Given the description of an element on the screen output the (x, y) to click on. 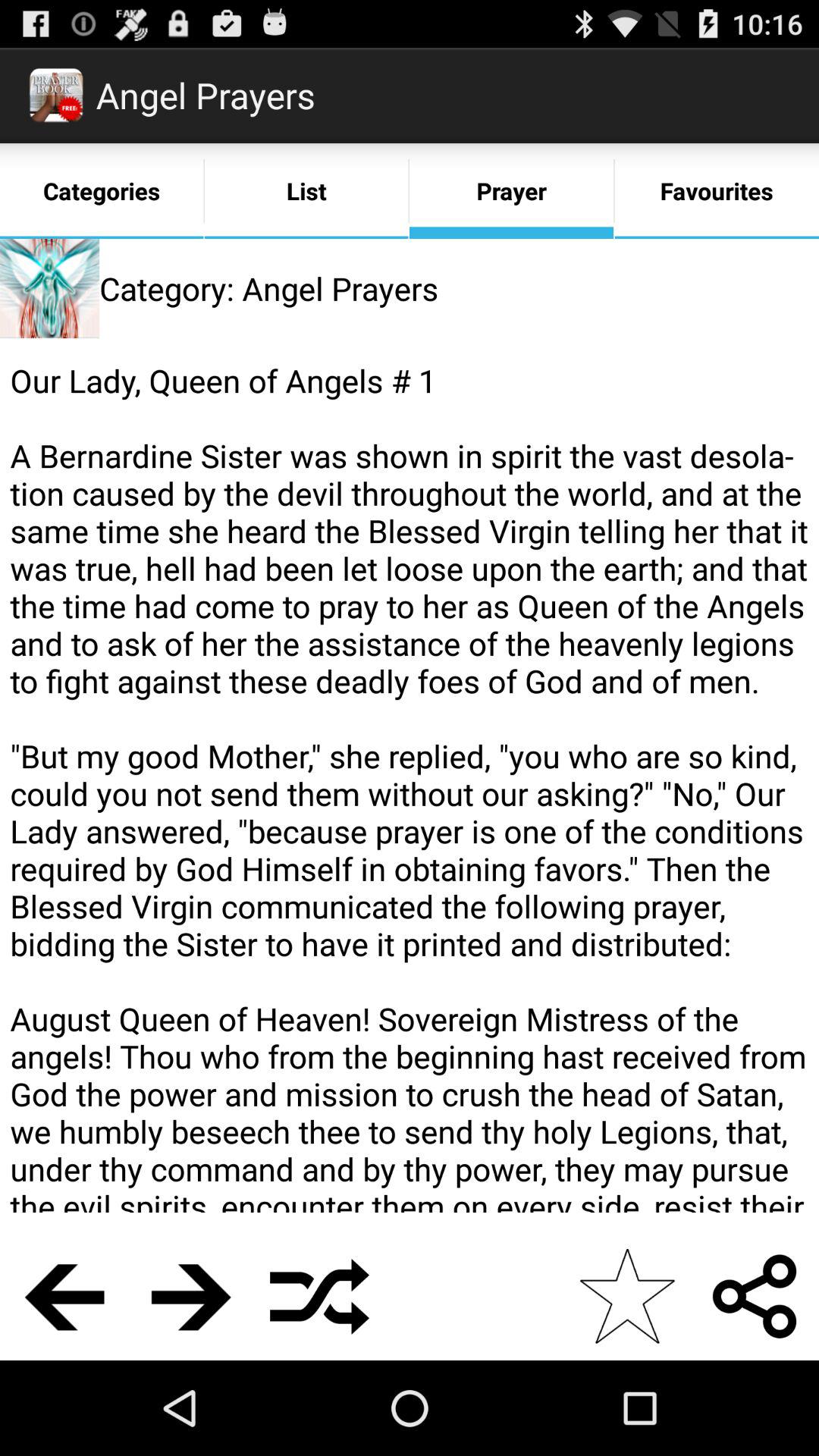
share this article (754, 1296)
